Given the description of an element on the screen output the (x, y) to click on. 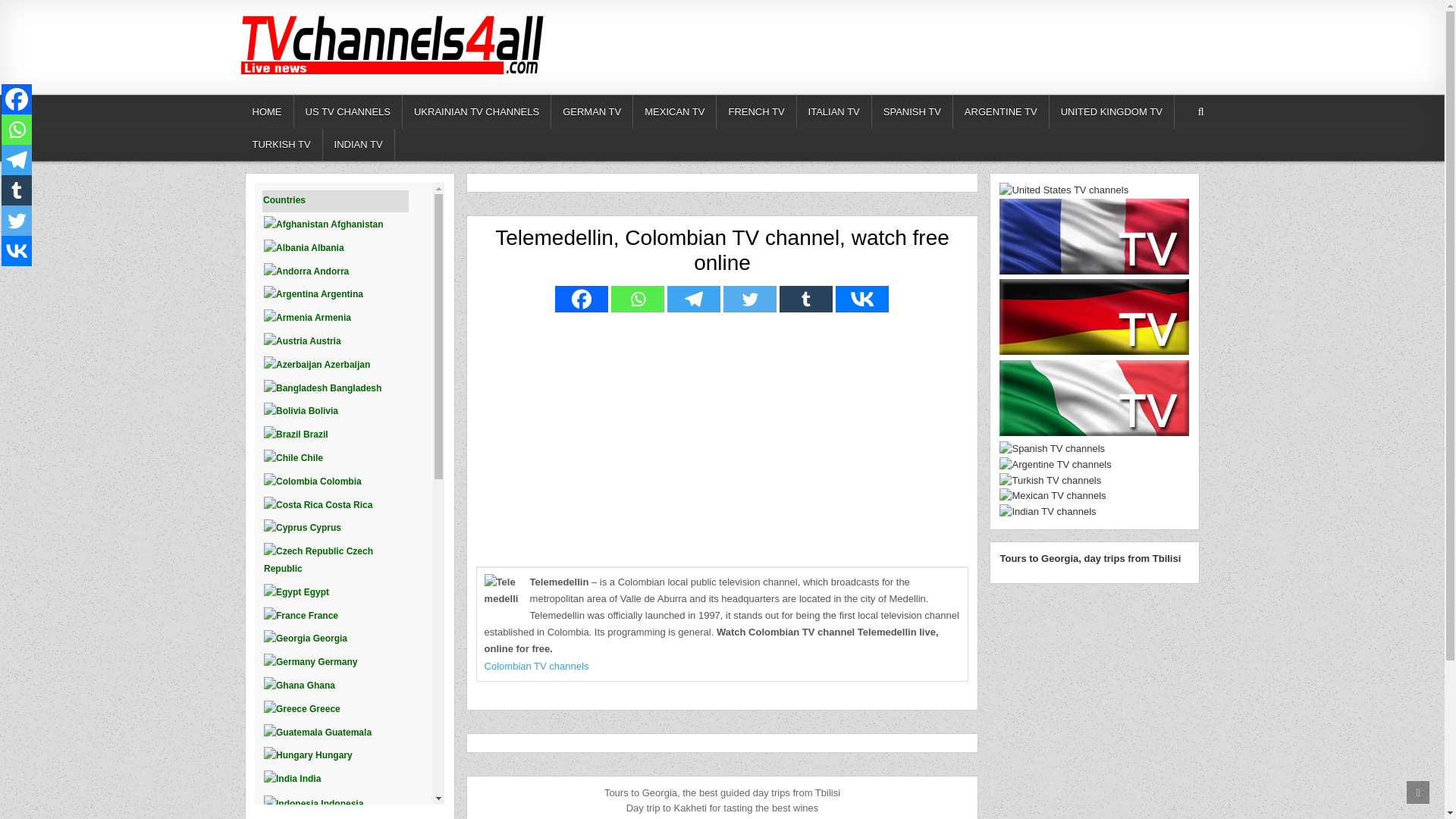
Vkontakte (861, 298)
Whatsapp (16, 129)
US TV CHANNELS (348, 111)
UKRAINIAN TV CHANNELS (477, 111)
UNITED KINGDOM TV (1111, 111)
Telegram (693, 298)
Facebook (581, 298)
Twitter (16, 220)
FRENCH TV (756, 111)
Telemedellin, Colombian TV channel, watch free online (722, 250)
